Given the description of an element on the screen output the (x, y) to click on. 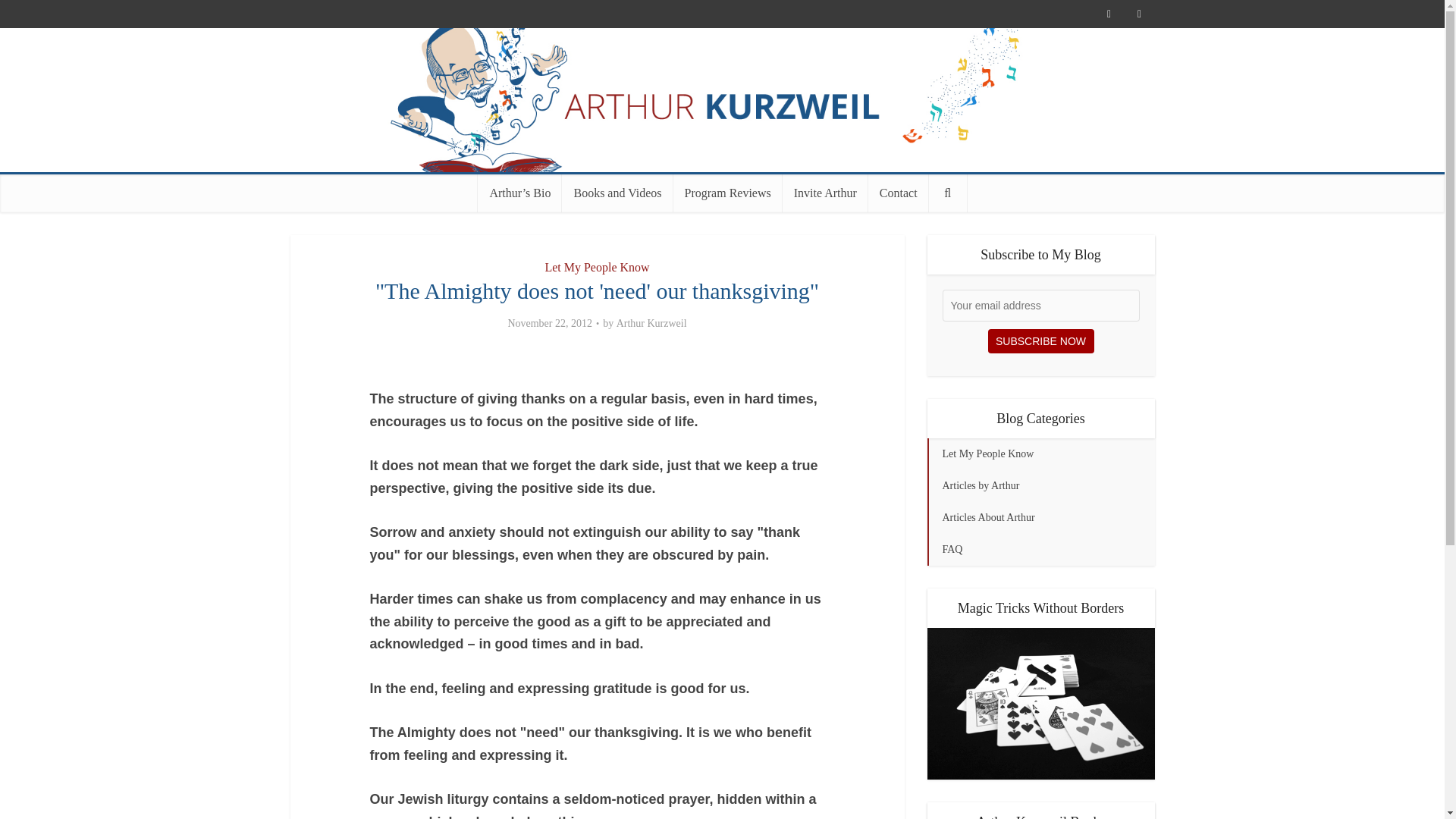
Arthur Kurzweil (651, 323)
Articles by Arthur (1040, 486)
Invite Arthur (825, 193)
SUBSCRIBE NOW (1040, 340)
Program Reviews (727, 193)
Articles About Arthur (1040, 517)
Let My People Know (596, 267)
Let My People Know (1040, 454)
SUBSCRIBE NOW (1040, 340)
Arthur Kurzweil (721, 99)
FAQ (1040, 549)
Books and Videos (617, 193)
Contact (897, 193)
